Given the description of an element on the screen output the (x, y) to click on. 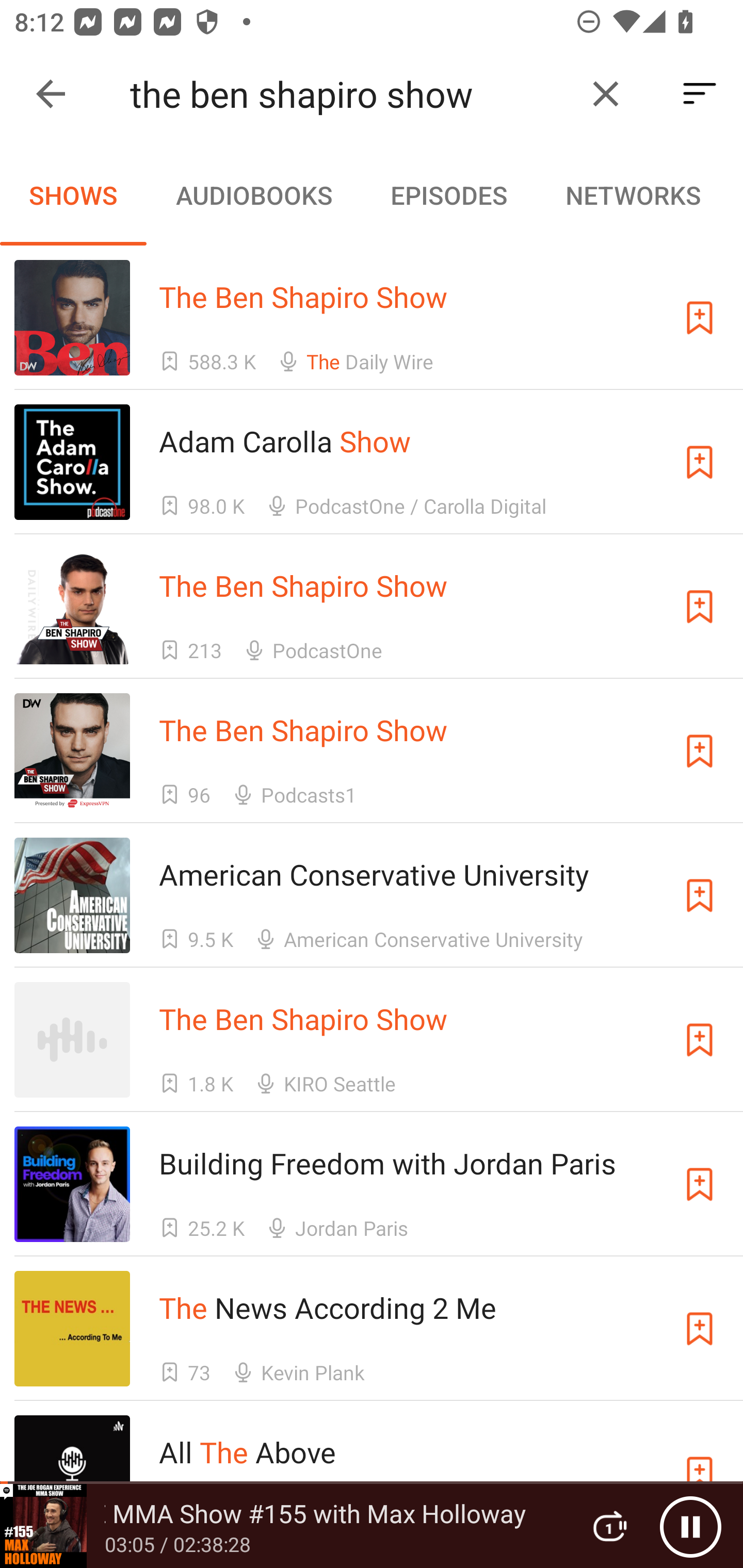
Collapse (50, 93)
Clear query (605, 93)
Sort By (699, 93)
the ben shapiro show (349, 94)
SHOWS (73, 195)
AUDIOBOOKS (253, 195)
EPISODES (448, 195)
NETWORKS (632, 195)
Subscribe (699, 317)
Subscribe (699, 462)
Subscribe (699, 606)
Subscribe (699, 751)
Subscribe (699, 895)
Subscribe (699, 1039)
